Given the description of an element on the screen output the (x, y) to click on. 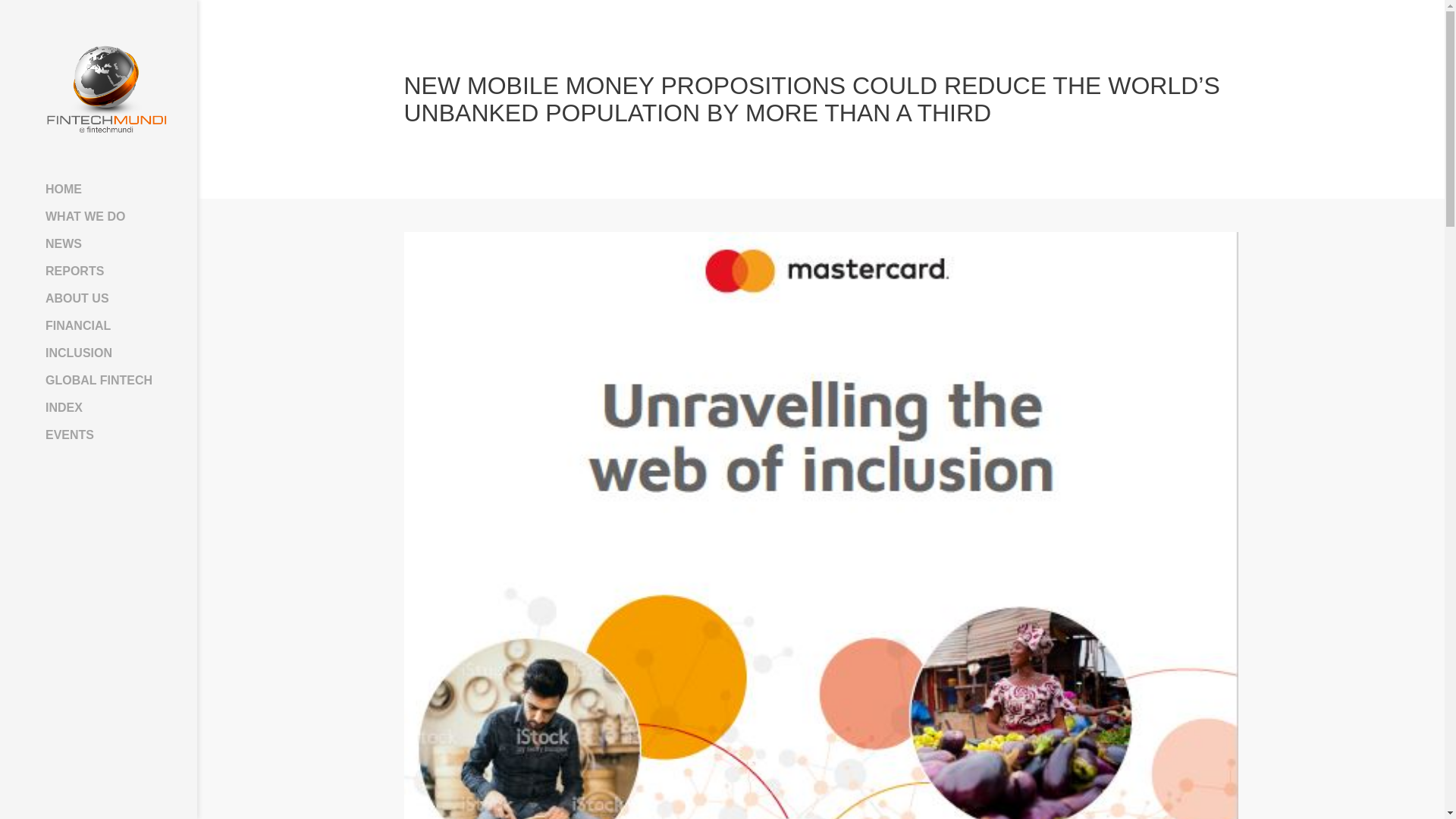
ABOUT US (106, 298)
WHAT WE DO (106, 216)
GLOBAL FINTECH INDEX (106, 393)
REPORTS (106, 271)
NEWS (106, 243)
EVENTS (106, 434)
FINANCIAL INCLUSION (106, 339)
HOME (106, 189)
